Given the description of an element on the screen output the (x, y) to click on. 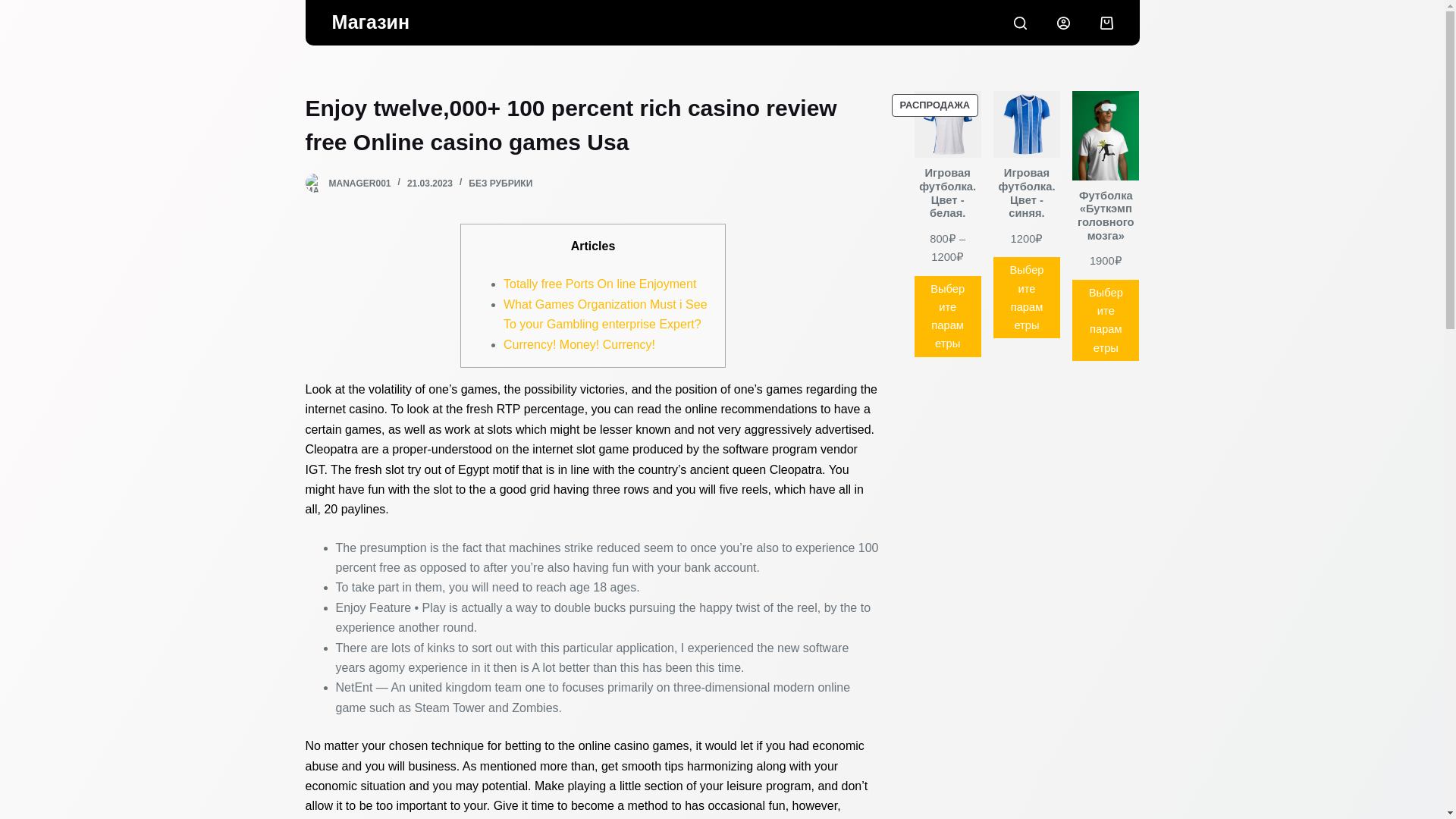
Currency! Money! Currency! (579, 344)
Totally free Ports On line Enjoyment (599, 283)
MANAGER001 (360, 183)
